Given the description of an element on the screen output the (x, y) to click on. 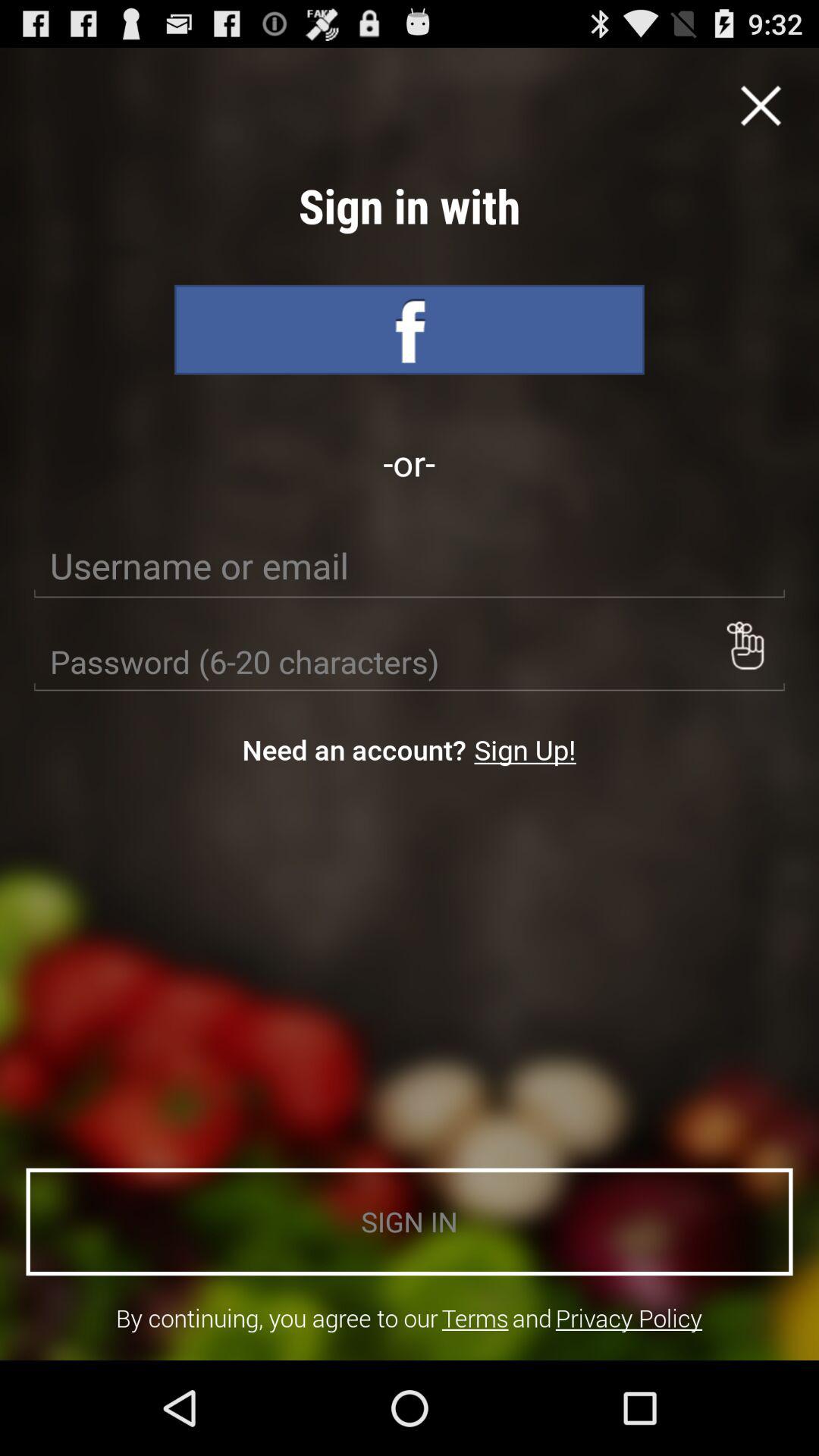
launch the terms (474, 1317)
